Given the description of an element on the screen output the (x, y) to click on. 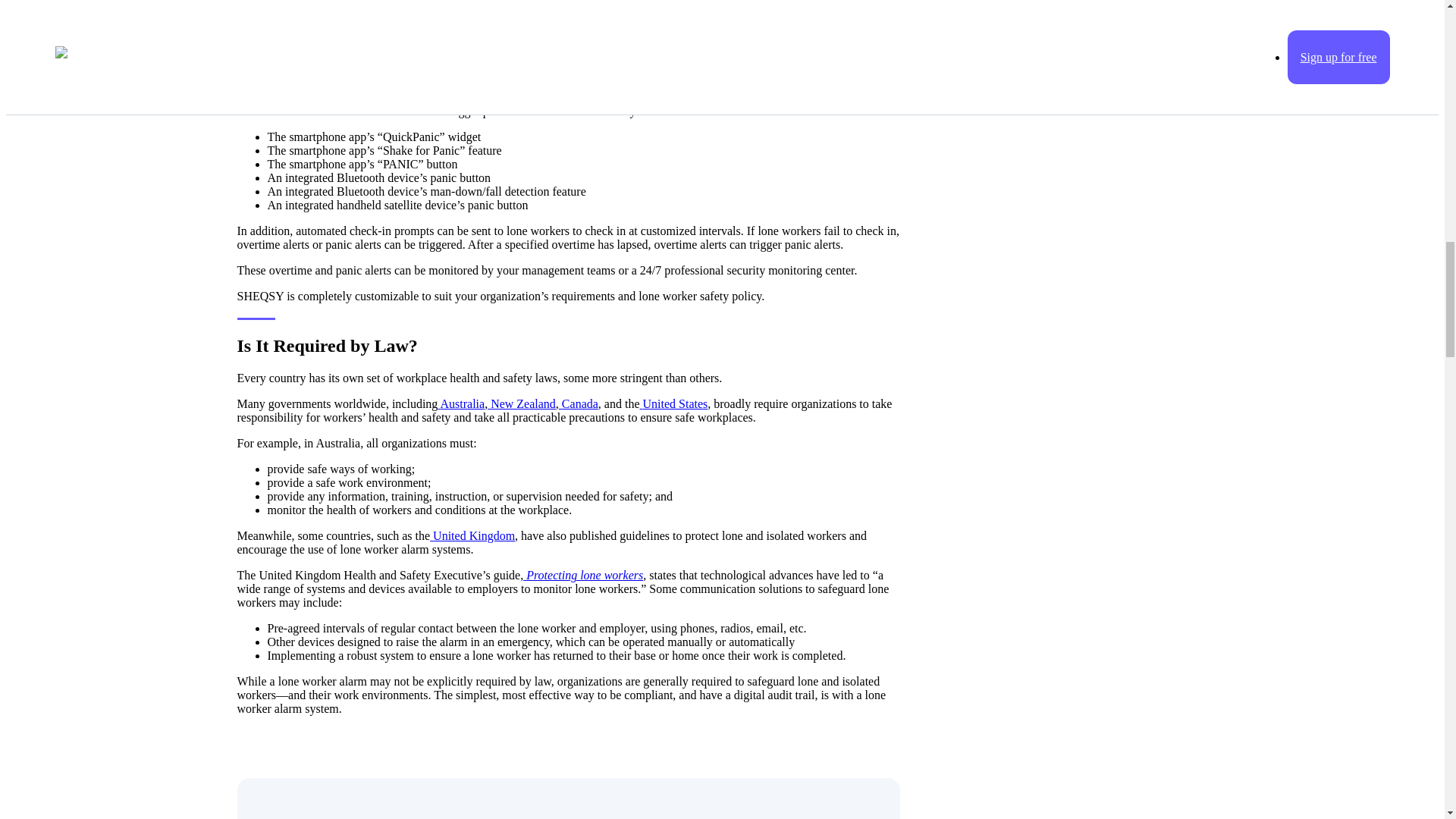
United Kingdom (472, 535)
Protecting lone workers (582, 574)
SHEQSY by SafetyCulture (437, 31)
Australia (461, 403)
New Zealand (521, 403)
United States (673, 403)
Canada (578, 403)
